Given the description of an element on the screen output the (x, y) to click on. 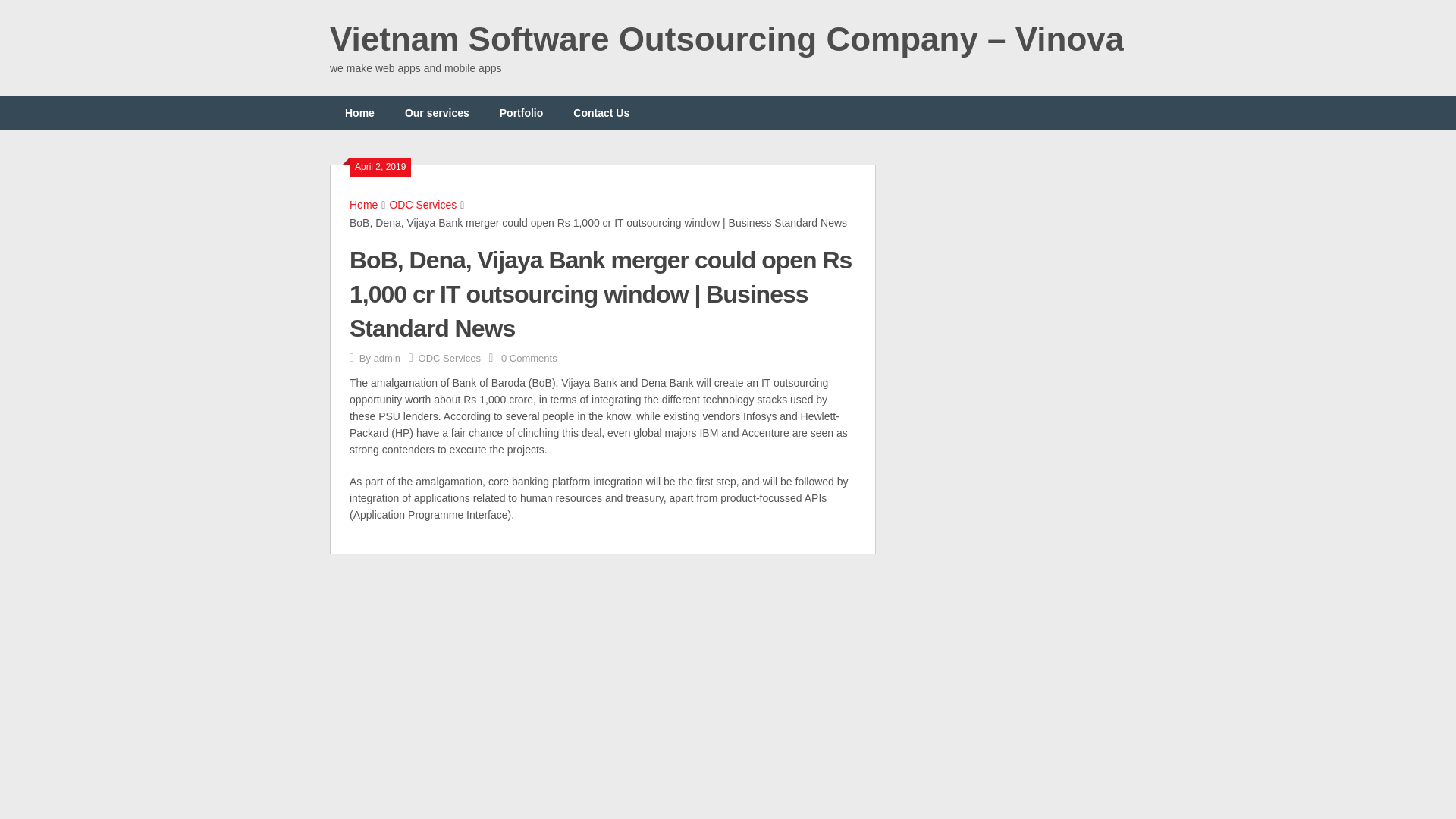
Posts by admin (387, 357)
Home (360, 113)
Portfolio (521, 113)
ODC Services (422, 204)
ODC Services (449, 357)
admin (387, 357)
Contact Us (601, 113)
0 Comments (528, 357)
Our services (437, 113)
